Given the description of an element on the screen output the (x, y) to click on. 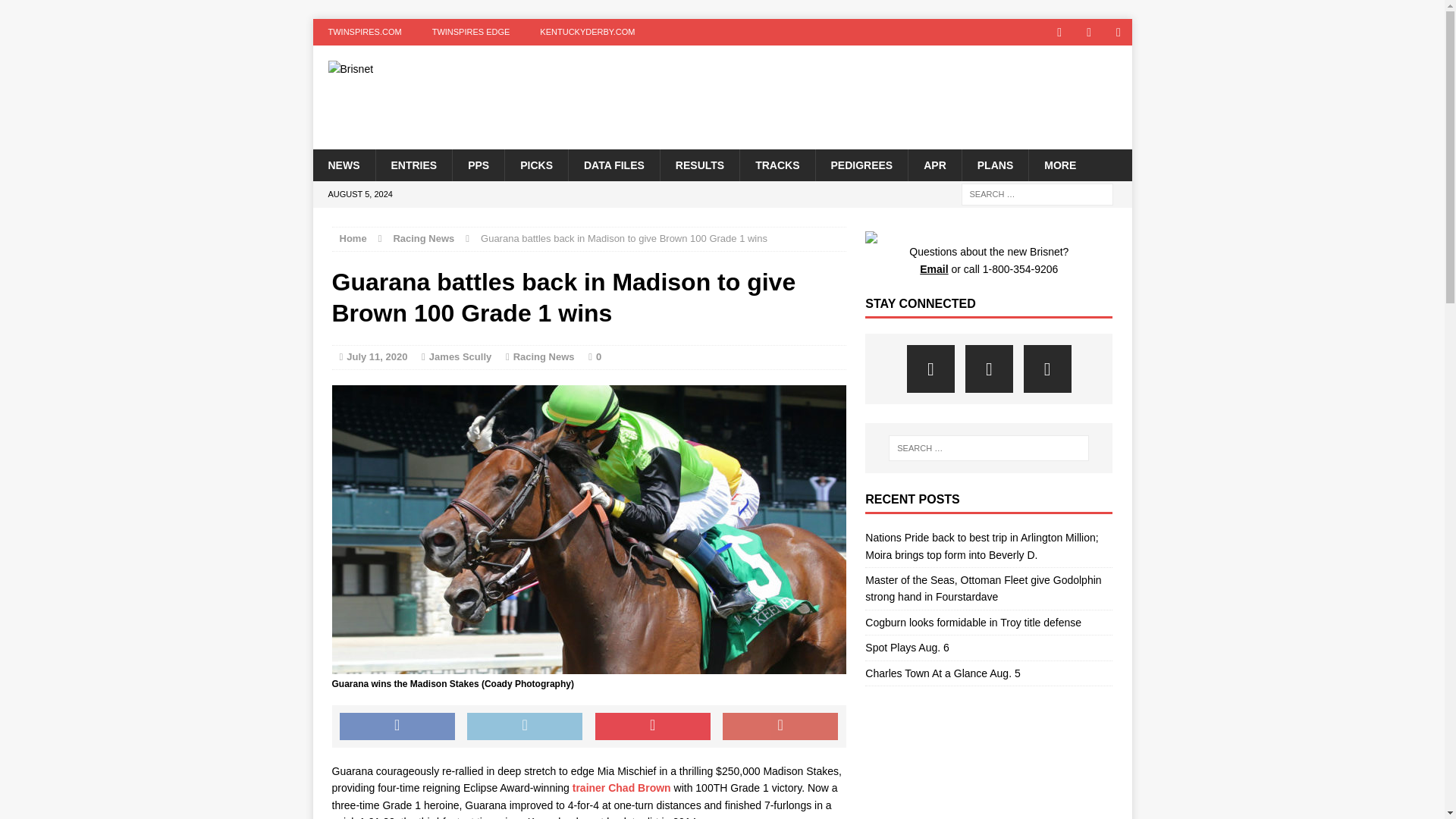
APR (933, 164)
PICKS (535, 164)
NEWS (343, 164)
TWINSPIRES EDGE (470, 31)
MORE (1058, 164)
PLANS (993, 164)
TWINSPIRES.COM (364, 31)
DATA FILES (613, 164)
Brisnet (442, 68)
PEDIGREES (860, 164)
